Given the description of an element on the screen output the (x, y) to click on. 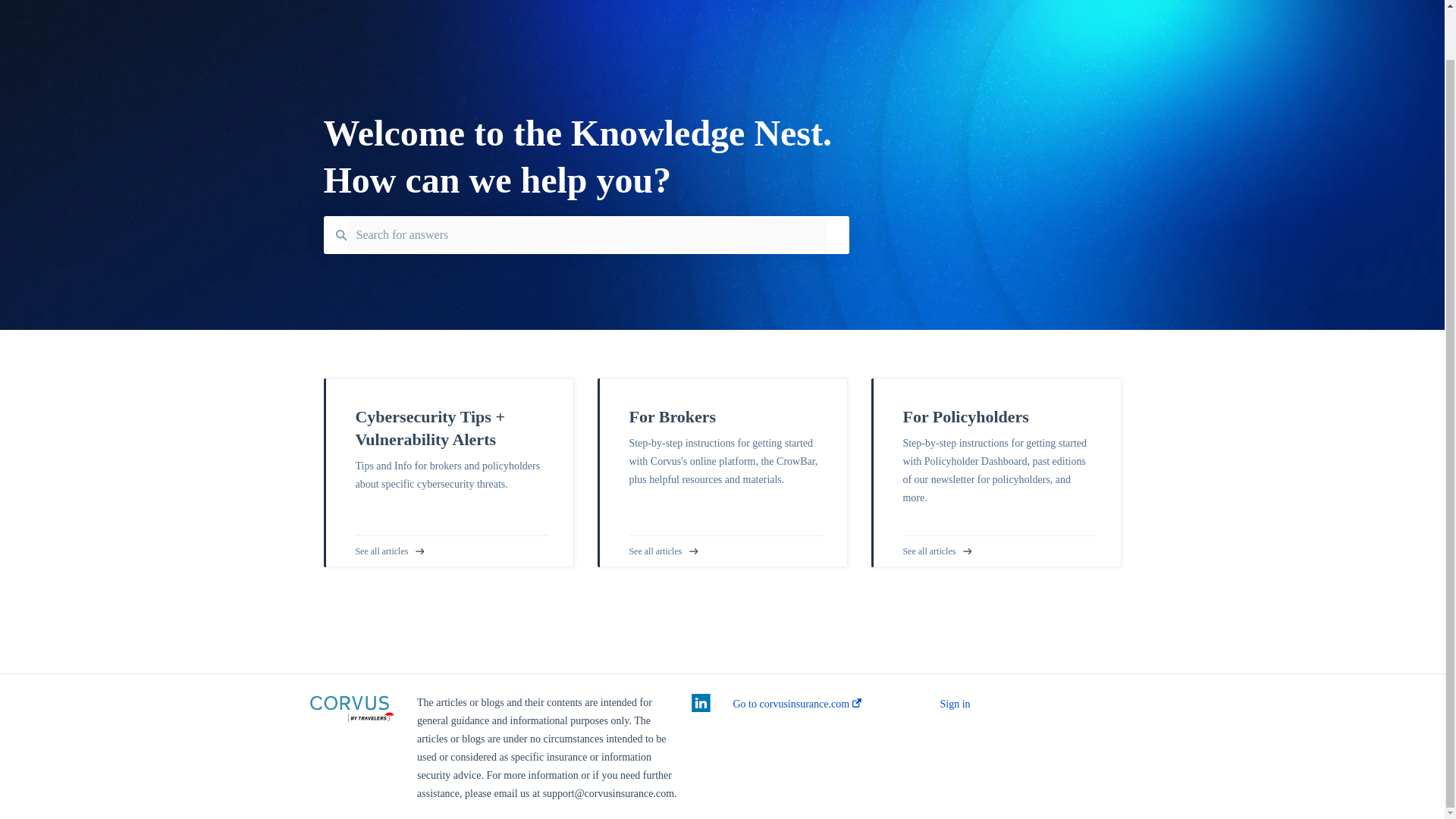
Sign in (955, 704)
Go to corvusinsurance.com (796, 704)
